Given the description of an element on the screen output the (x, y) to click on. 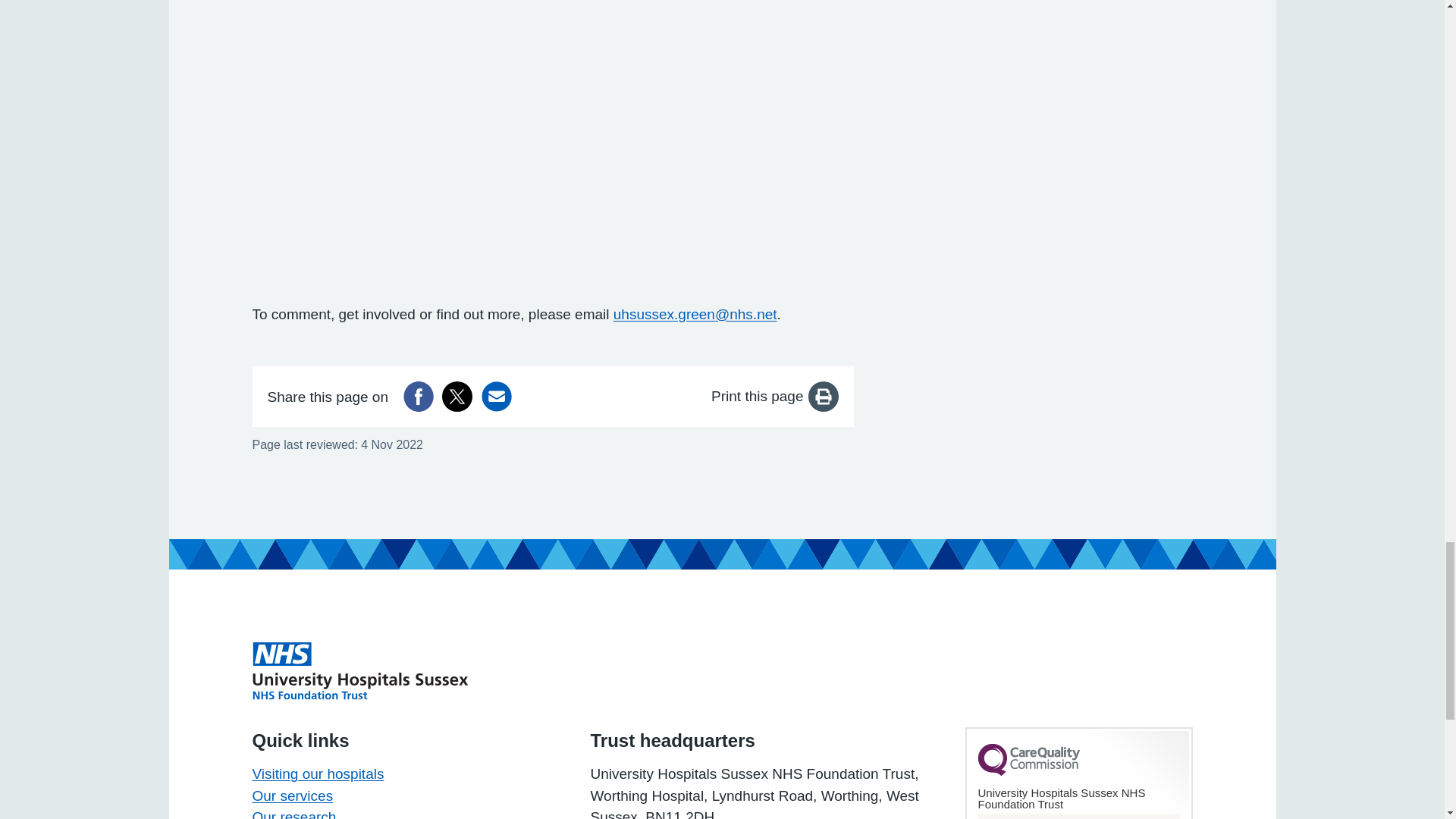
Share on Facebook (418, 396)
Excellence as our standard (359, 671)
Share via Email (496, 396)
Share on Twitter (456, 396)
CQC Logo (1029, 771)
